Given the description of an element on the screen output the (x, y) to click on. 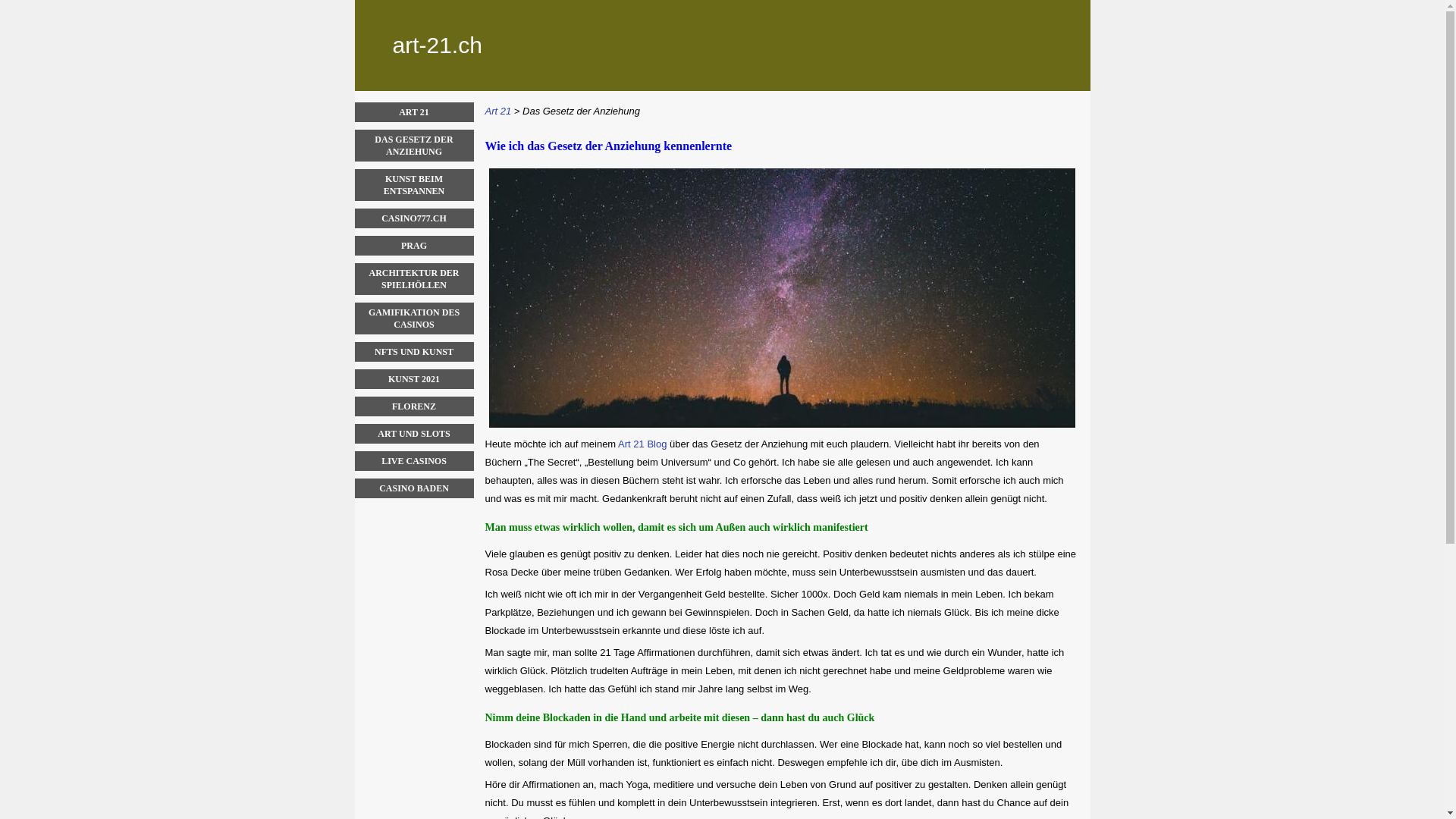
ART UND SLOTS Element type: text (413, 433)
KUNST BEIM ENTSPANNEN Element type: text (413, 184)
KUNST 2021 Element type: text (413, 379)
FLORENZ Element type: text (413, 406)
Art 21 Blog Element type: text (642, 443)
CASINO BADEN Element type: text (413, 488)
Das Gesetz der Anziehung Element type: text (581, 110)
DAS GESETZ DER ANZIEHUNG Element type: text (413, 145)
Art 21 Element type: text (498, 110)
ART 21 Element type: text (413, 112)
GAMIFIKATION DES CASINOS Element type: text (413, 318)
PRAG Element type: text (413, 245)
LIVE CASINOS Element type: text (413, 460)
NFTS UND KUNST Element type: text (413, 351)
CASINO777.CH Element type: text (413, 218)
